Given the description of an element on the screen output the (x, y) to click on. 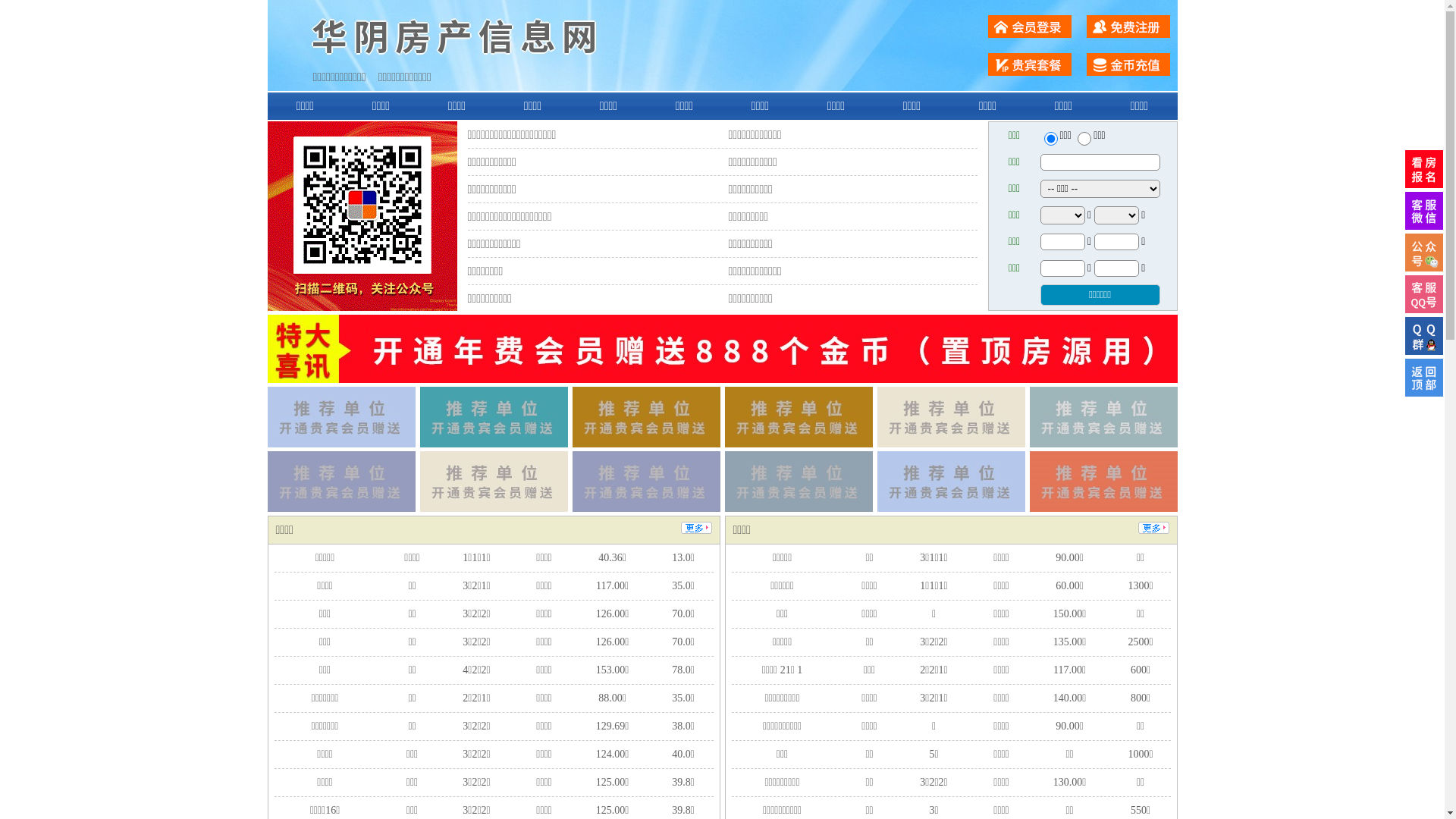
ershou Element type: text (1050, 138)
chuzu Element type: text (1084, 138)
